Given the description of an element on the screen output the (x, y) to click on. 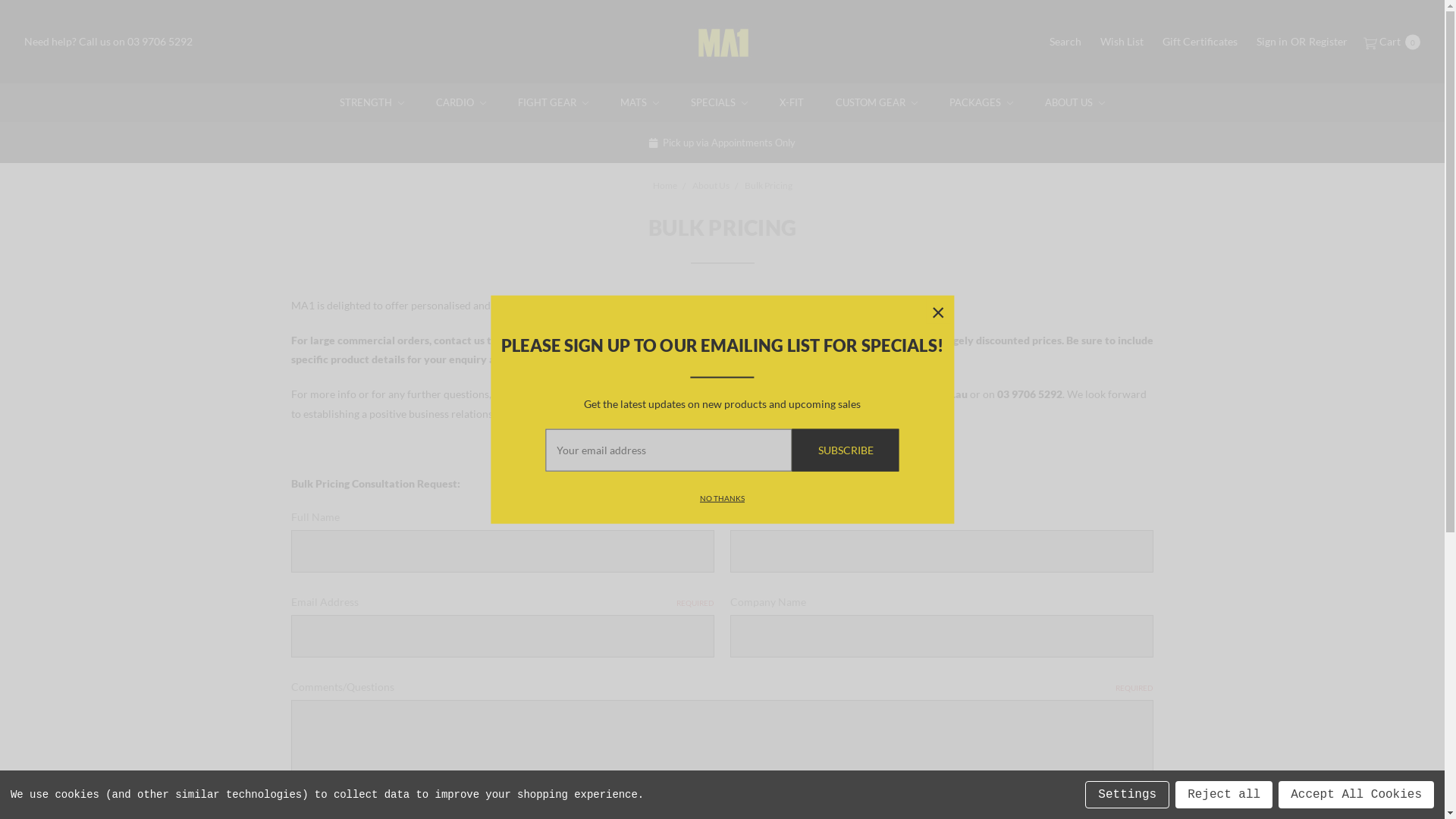
FIGHT GEAR Element type: text (553, 102)
Sign in Element type: text (1271, 41)
Gift Certificates Element type: text (1199, 41)
Bulk Pricing Element type: text (768, 185)
Reject all Element type: text (1223, 794)
CUSTOM GEAR Element type: text (876, 102)
About Us Element type: text (709, 185)
SPECIALS Element type: text (718, 102)
Home Element type: text (664, 185)
Accept All Cookies Element type: text (1356, 794)
NO THANKS Element type: text (721, 497)
Wish List Element type: text (1121, 41)
Search Element type: text (1065, 41)
Settings Element type: text (1127, 794)
PACKAGES Element type: text (981, 102)
MATS Element type: text (639, 102)
Cart 0 Element type: text (1390, 41)
ABOUT US Element type: text (1074, 102)
Register Element type: text (1327, 41)
Pick up via Appointments Only Element type: text (722, 142)
MA1 Element type: hover (721, 43)
STRENGTH Element type: text (371, 102)
Need help? Call us on 03 9706 5292 Element type: text (107, 41)
CARDIO Element type: text (461, 102)
X-FIT Element type: text (791, 102)
Subscribe Element type: text (845, 449)
